Given the description of an element on the screen output the (x, y) to click on. 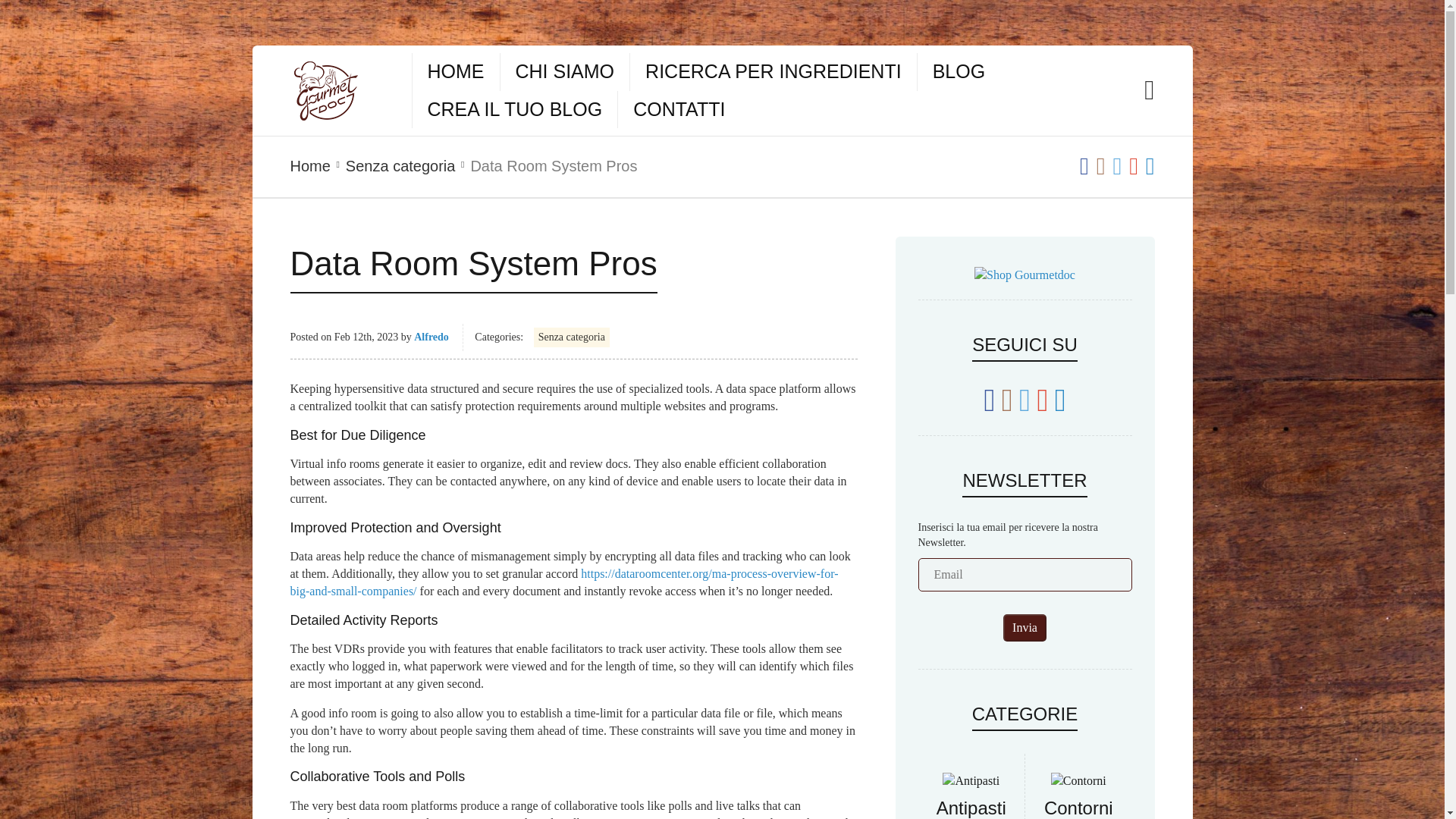
View all posts in Senza categoria (400, 166)
Alfredo (430, 337)
CHI SIAMO (564, 71)
Senza categoria (572, 337)
RICERCA PER INGREDIENTI (773, 71)
BLOG (959, 71)
CREA IL TUO BLOG (515, 109)
HOME (456, 71)
CONTATTI (679, 109)
Home (309, 166)
